Given the description of an element on the screen output the (x, y) to click on. 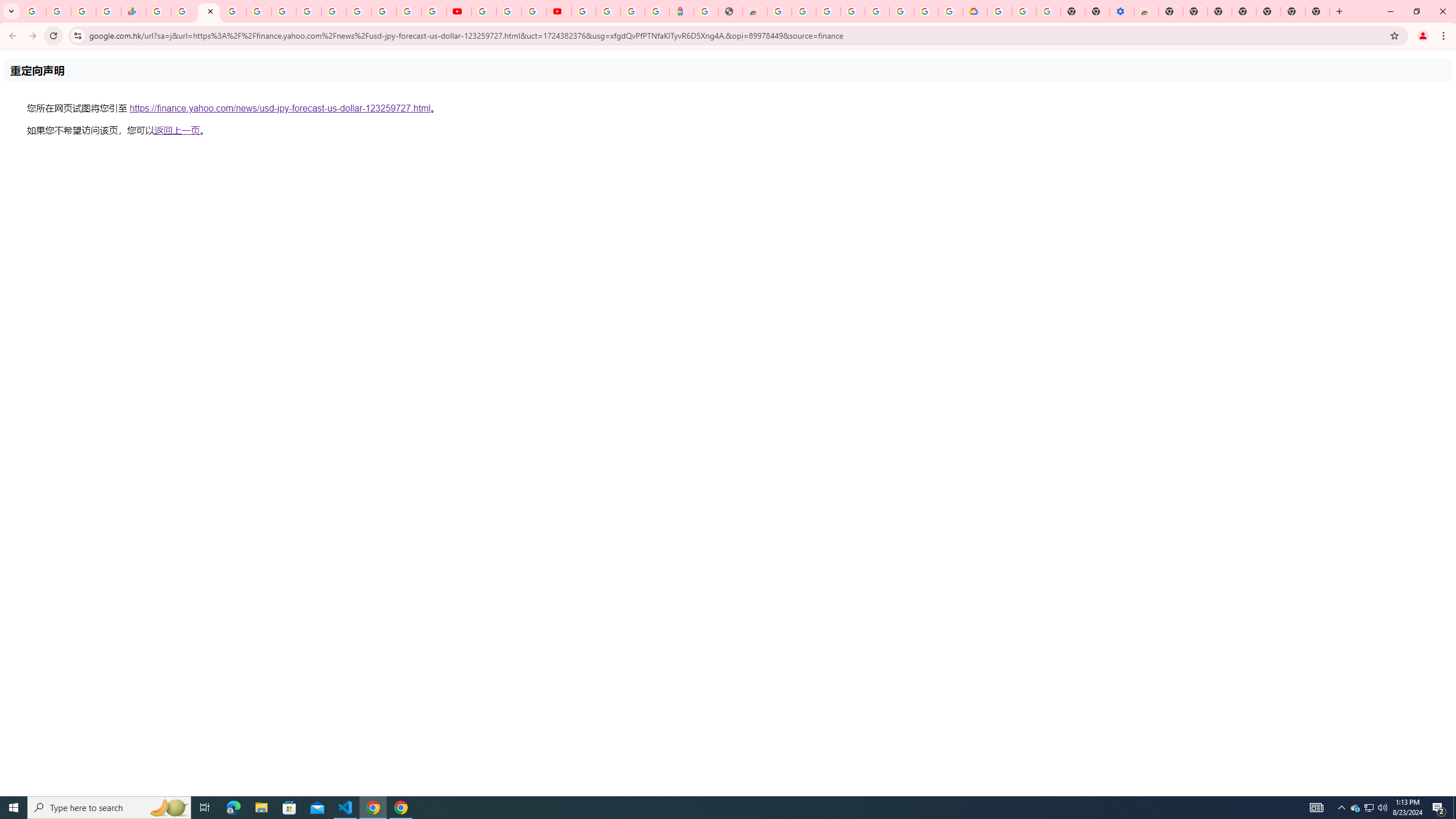
New Tab (1317, 11)
Turn cookies on or off - Computer - Google Account Help (1047, 11)
Google Account Help (1023, 11)
Sign in - Google Accounts (583, 11)
Google Account Help (509, 11)
Android TV Policies and Guidelines - Transparency Center (308, 11)
Sign in - Google Accounts (358, 11)
New Tab (1170, 11)
Settings - Accessibility (1121, 11)
Atour Hotel - Google hotels (680, 11)
